Given the description of an element on the screen output the (x, y) to click on. 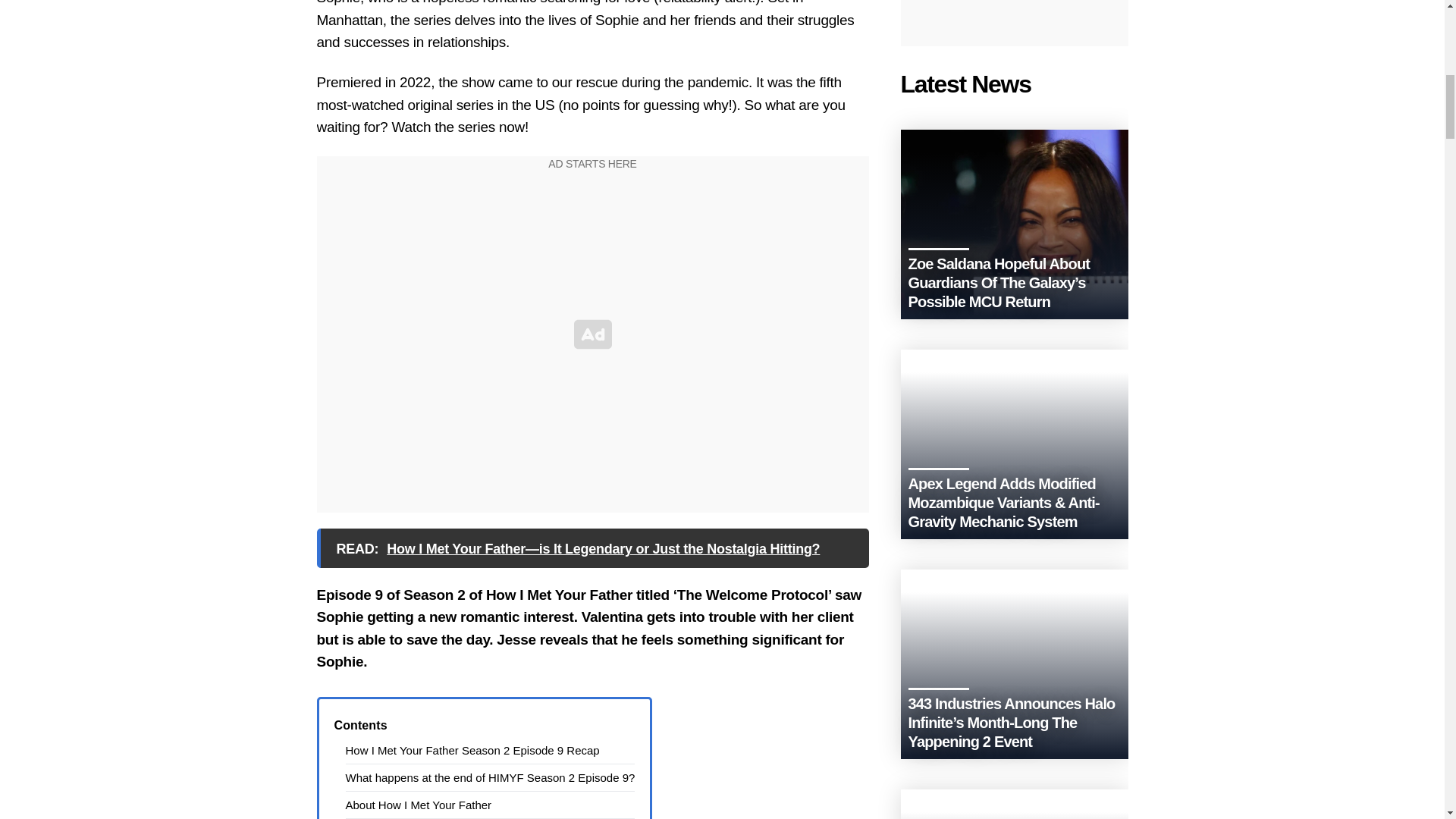
How I Met Your Father Season 2 Episode 9 Recap (472, 749)
